Given the description of an element on the screen output the (x, y) to click on. 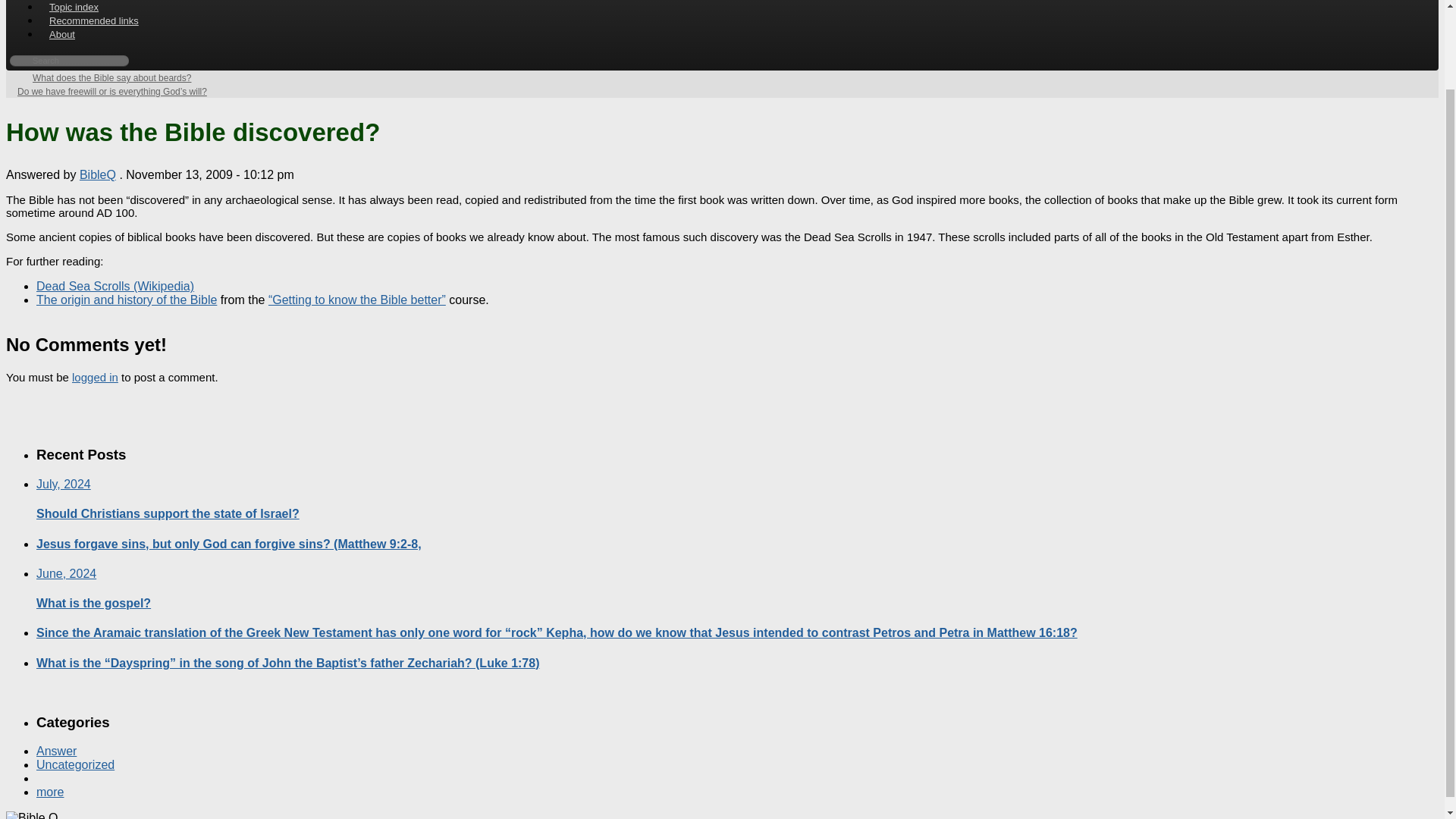
BibleQ (98, 174)
Recommended links (94, 20)
Topic index (73, 9)
logged in (94, 377)
June, 2024 (66, 573)
Submit a question (88, 2)
Uncategorized (75, 764)
What does the Bible say about beards? (104, 77)
Should Christians support the state of Israel? (167, 513)
About (62, 34)
